Given the description of an element on the screen output the (x, y) to click on. 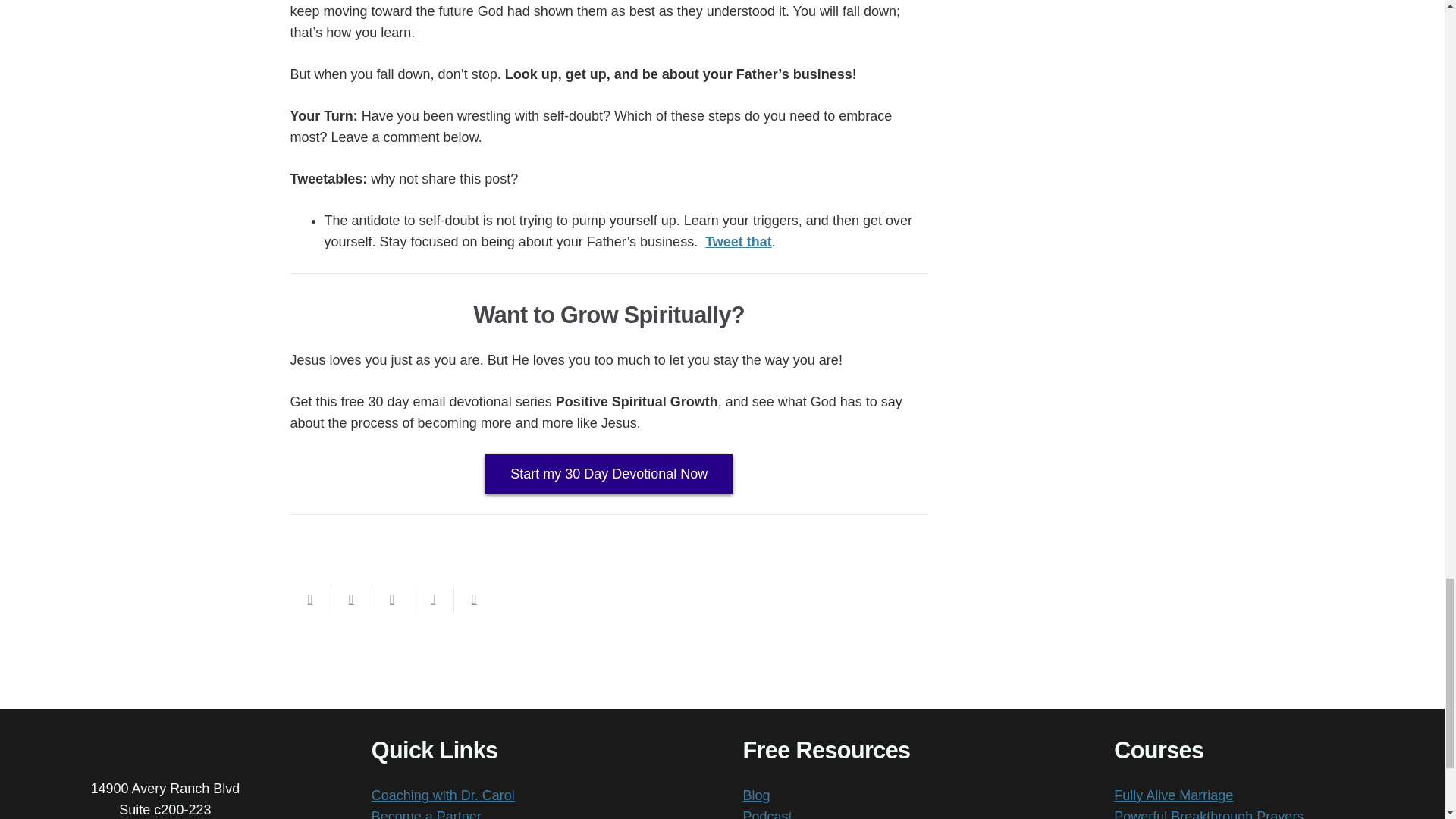
Start my 30 Day Devotional Now (608, 473)
Pin this (473, 598)
Share this (350, 598)
Share this (432, 598)
Tweet this (391, 598)
Email this (309, 598)
Tweet that (737, 241)
